Given the description of an element on the screen output the (x, y) to click on. 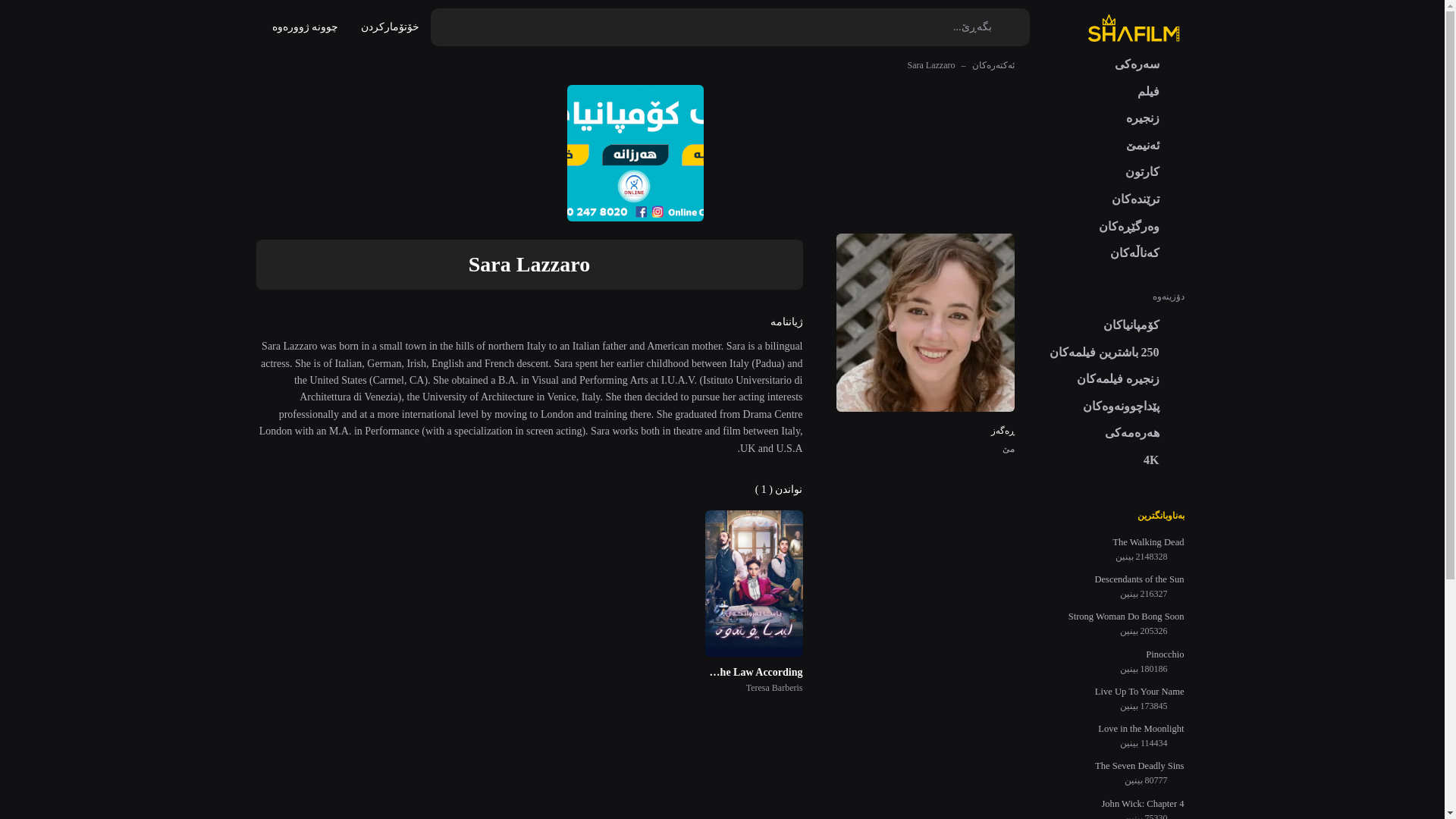
4K (1163, 460)
Teresa Barberis (753, 687)
The Law According to Lidia Poet (753, 672)
